Given the description of an element on the screen output the (x, y) to click on. 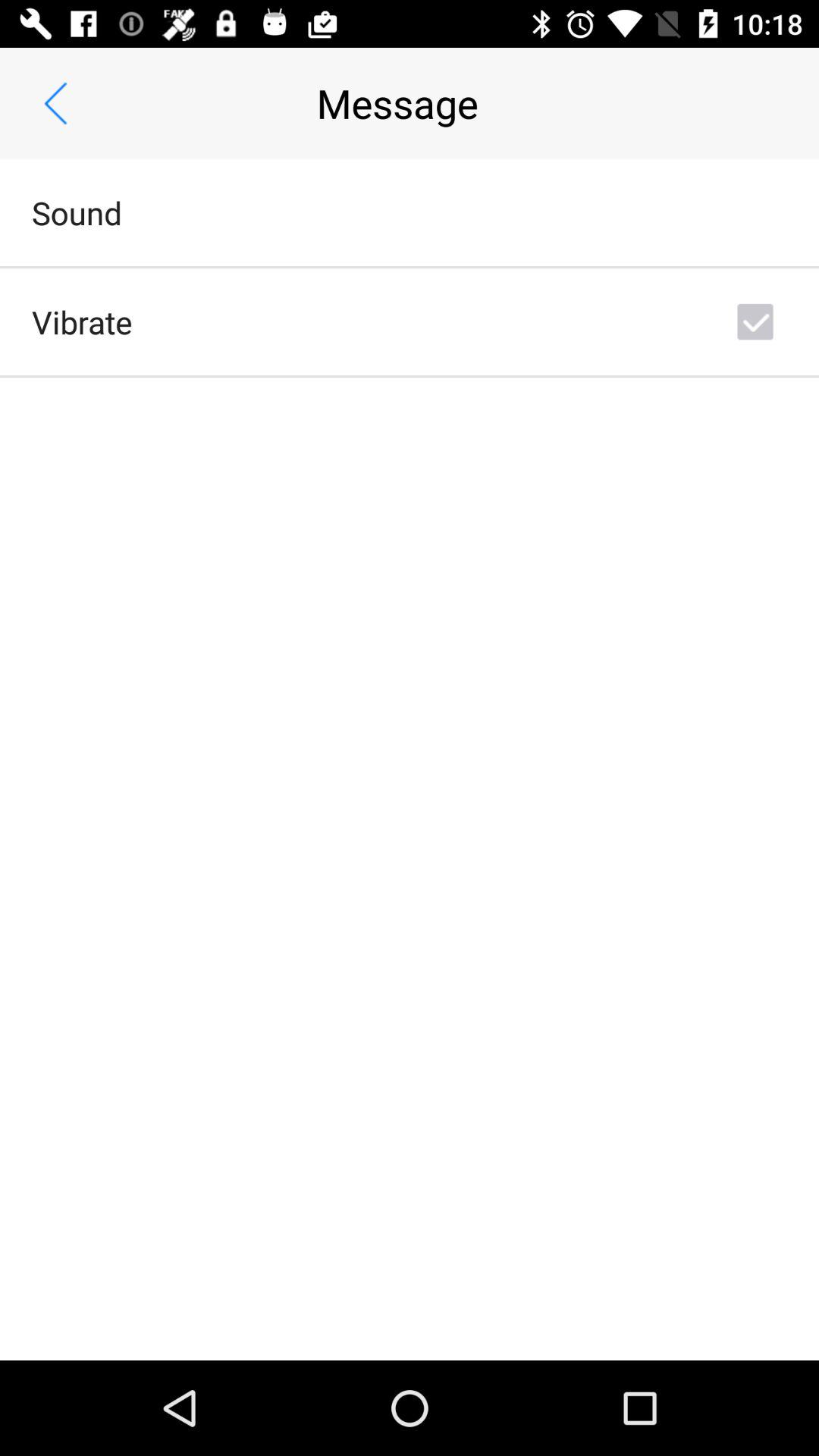
turn on icon to the right of vibrate (755, 321)
